Given the description of an element on the screen output the (x, y) to click on. 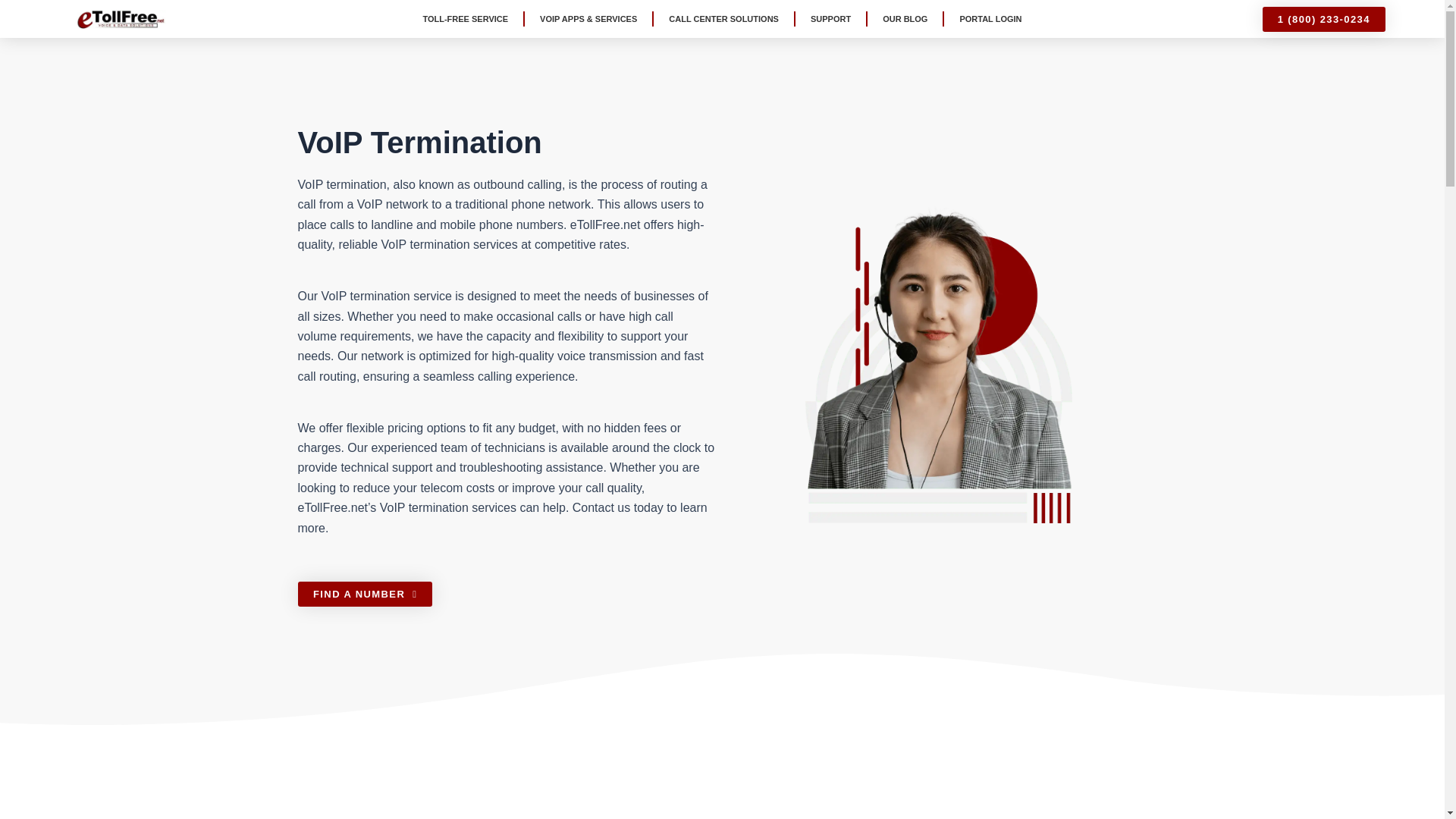
SUPPORT (830, 18)
TOLL-FREE SERVICE (464, 18)
CALL CENTER SOLUTIONS (723, 18)
PORTAL LOGIN (989, 18)
OUR BLOG (904, 18)
